Given the description of an element on the screen output the (x, y) to click on. 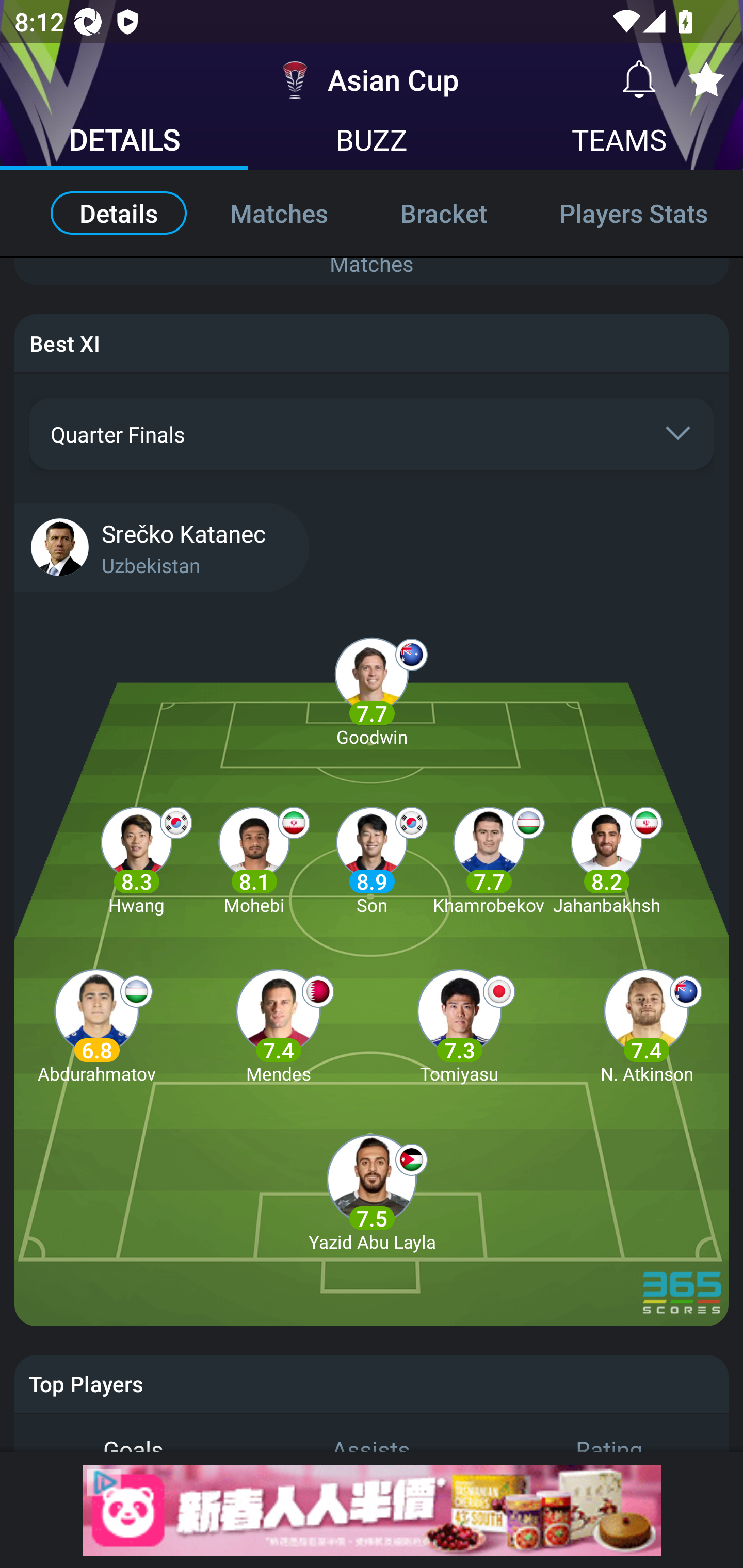
DETAILS (123, 142)
BUZZ (371, 142)
TEAMS (619, 142)
Matches (278, 212)
Bracket (443, 212)
Players Stats (633, 212)
Matches (371, 263)
Quarter Finals (371, 434)
Srečko Katanec Uzbekistan (371, 546)
Goodwin 7.7 (371, 688)
Hwang 8.3 (136, 857)
Mohebi 8.1 (253, 857)
8.9 Son (371, 857)
Khamrobekov 7.7 (488, 857)
Jahanbakhsh 8.2 (606, 857)
Abdurahmatov 6.8 (96, 1025)
Mendes 7.4 (278, 1025)
Tomiyasu 7.3 (459, 1025)
N. Atkinson 7.4 (646, 1025)
Yazid Abu Layla 7.5 (371, 1193)
Top Players (371, 1383)
mg0gkqli_320x50 (371, 1509)
